Given the description of an element on the screen output the (x, y) to click on. 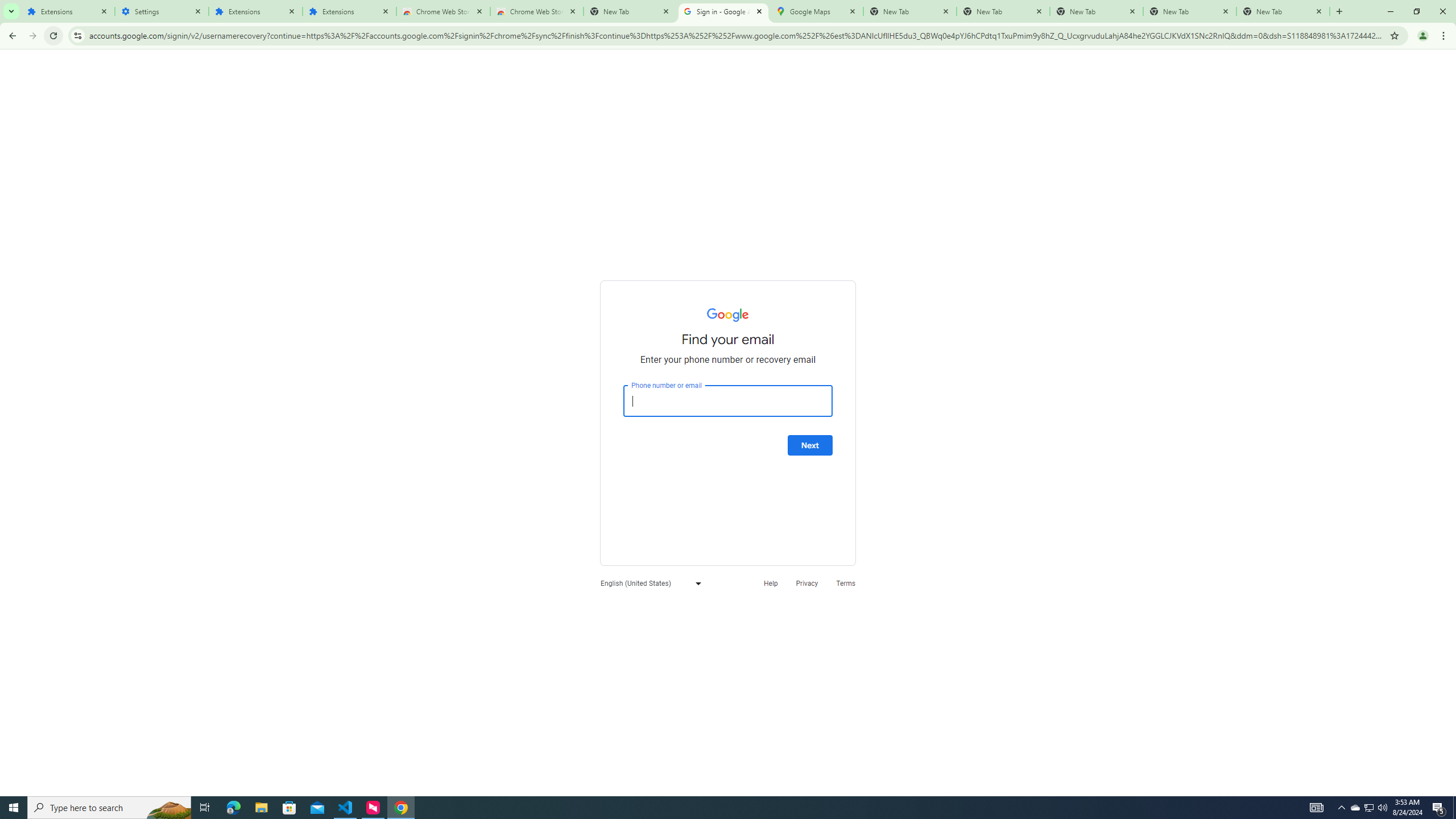
Terms (845, 583)
Settings (161, 11)
Chrome Web Store - Themes (536, 11)
